Given the description of an element on the screen output the (x, y) to click on. 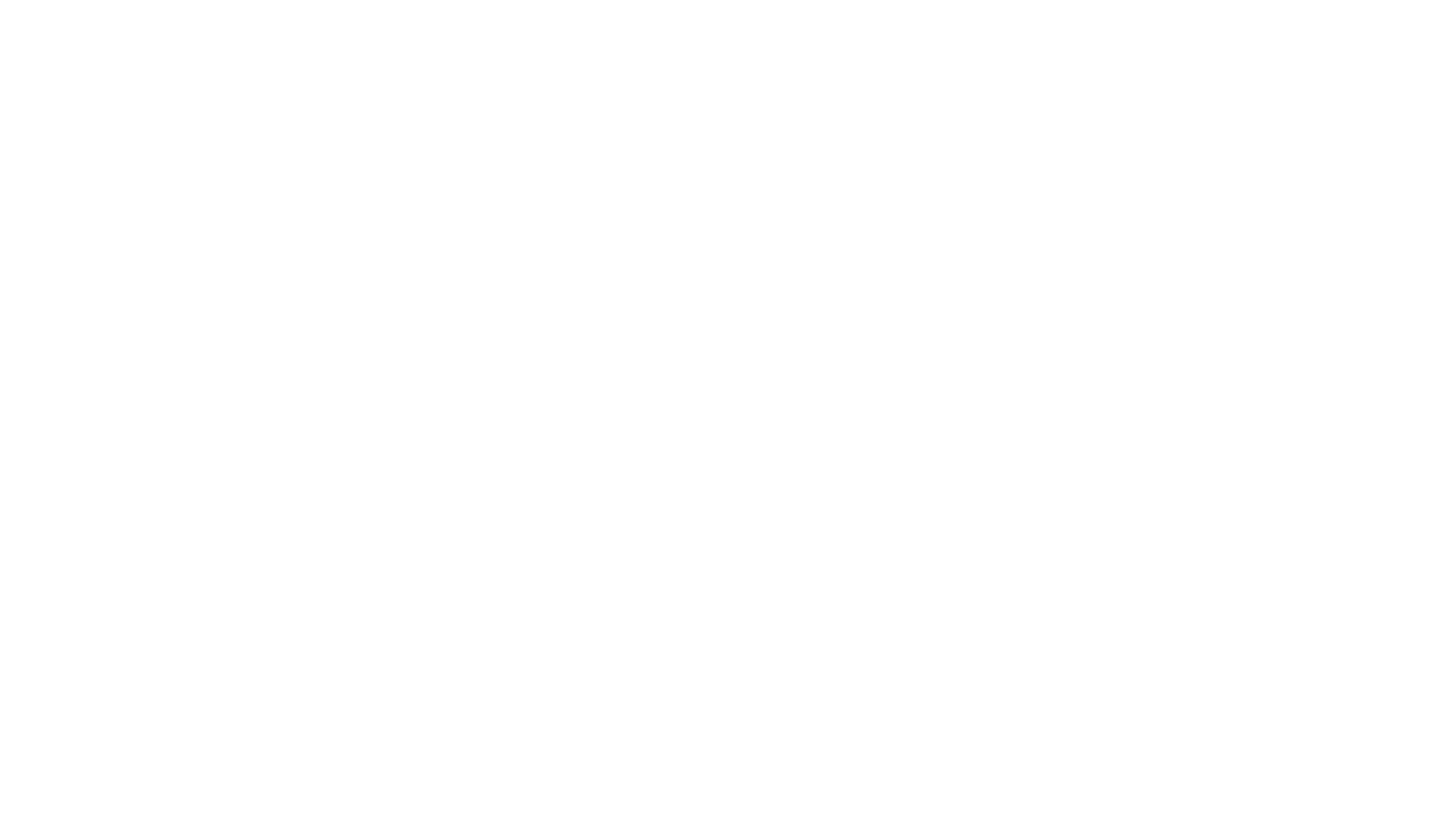
Algemene voorwaarden Element type: text (81, 801)
TeamViewer QuickSupport for MacOS Element type: text (116, 749)
info@bitbull.be Element type: text (103, 698)
Bitbull services & tarieven Element type: text (85, 783)
TeamViewer QuickSupport for Windows Element type: text (121, 733)
